Given the description of an element on the screen output the (x, y) to click on. 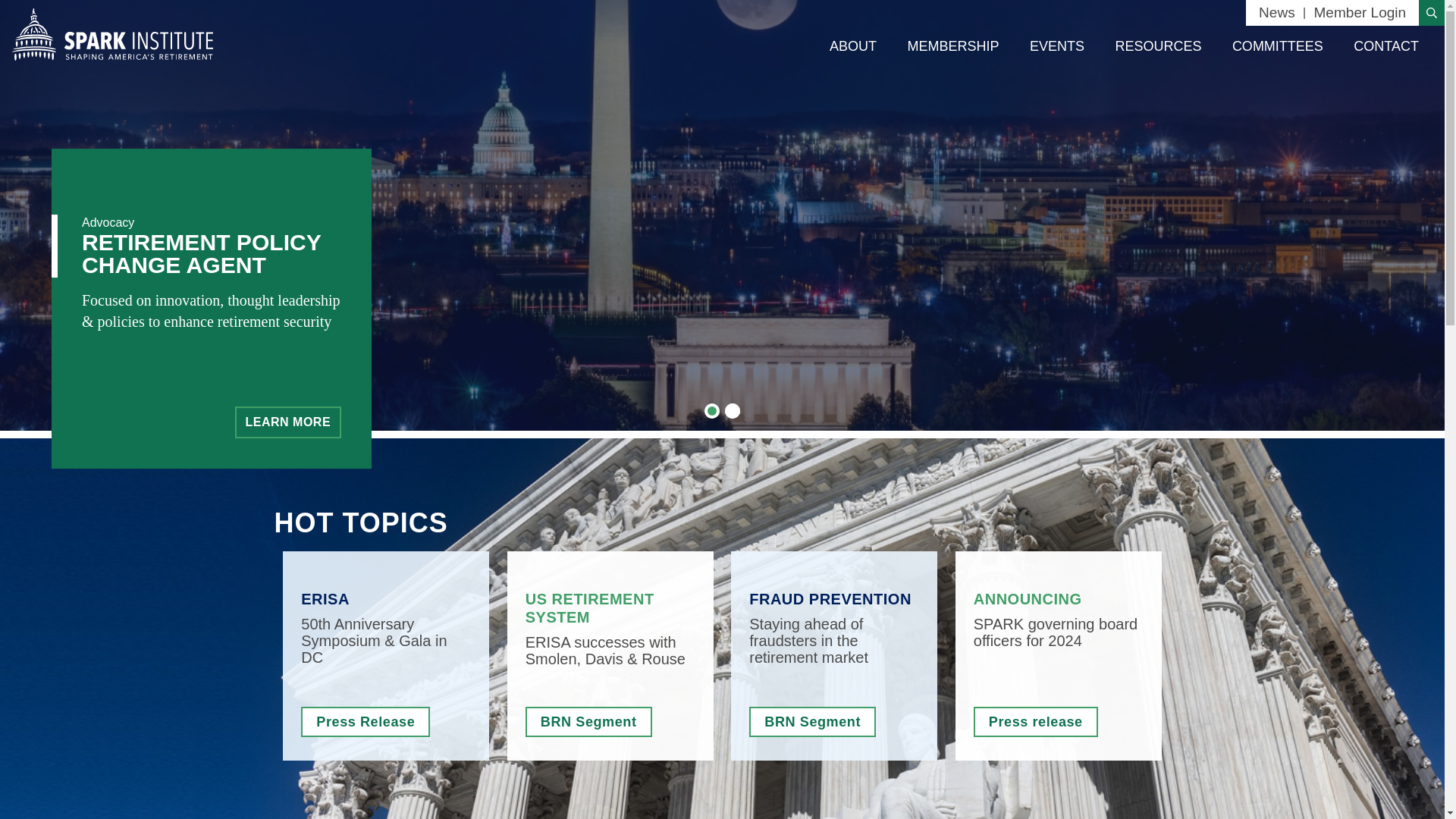
RESOURCES (1157, 46)
EVENTS (1056, 46)
MEMBERSHIP (952, 46)
Spark Institute - Shaping America's Retirement (112, 33)
ABOUT (852, 46)
